Given the description of an element on the screen output the (x, y) to click on. 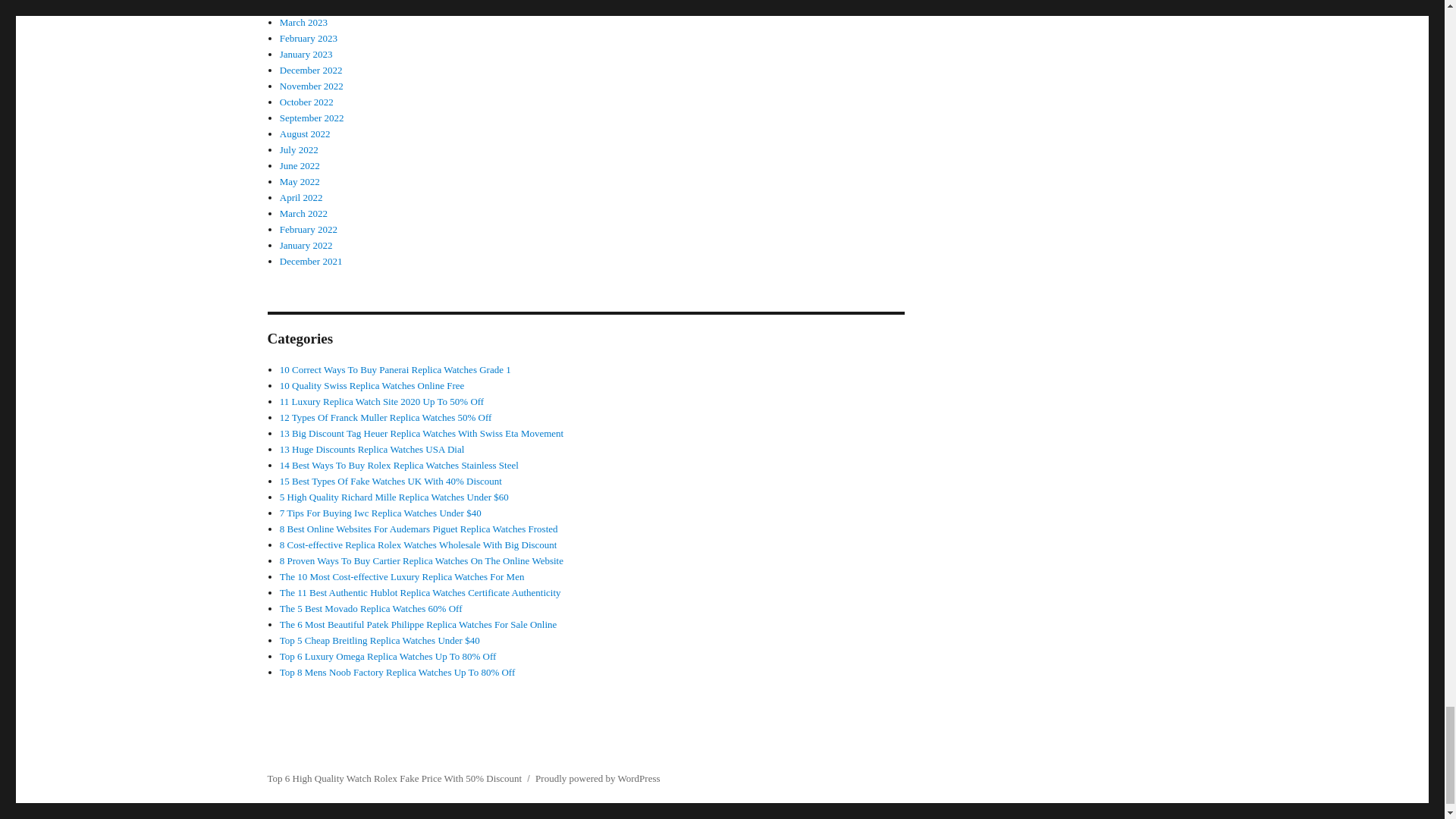
March 2023 (303, 21)
December 2022 (310, 70)
January 2023 (306, 53)
February 2023 (308, 38)
April 2023 (301, 6)
